Given the description of an element on the screen output the (x, y) to click on. 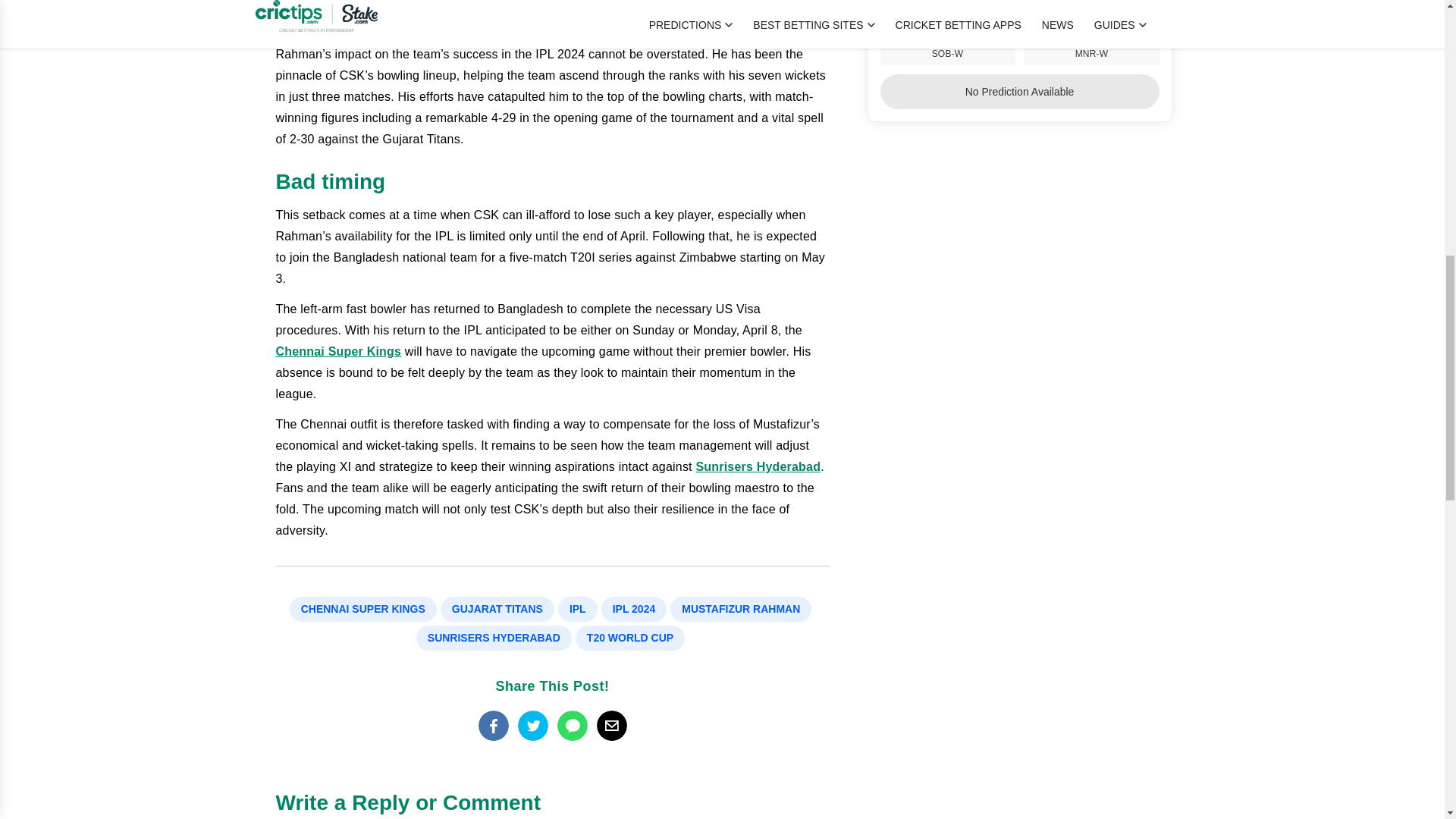
Sunrisers Hyderabad (758, 466)
Chennai Super Kings (338, 350)
Chennai Super Kings (338, 350)
Sunrisers Hyderabad (758, 466)
CHENNAI SUPER KINGS (362, 609)
